Given the description of an element on the screen output the (x, y) to click on. 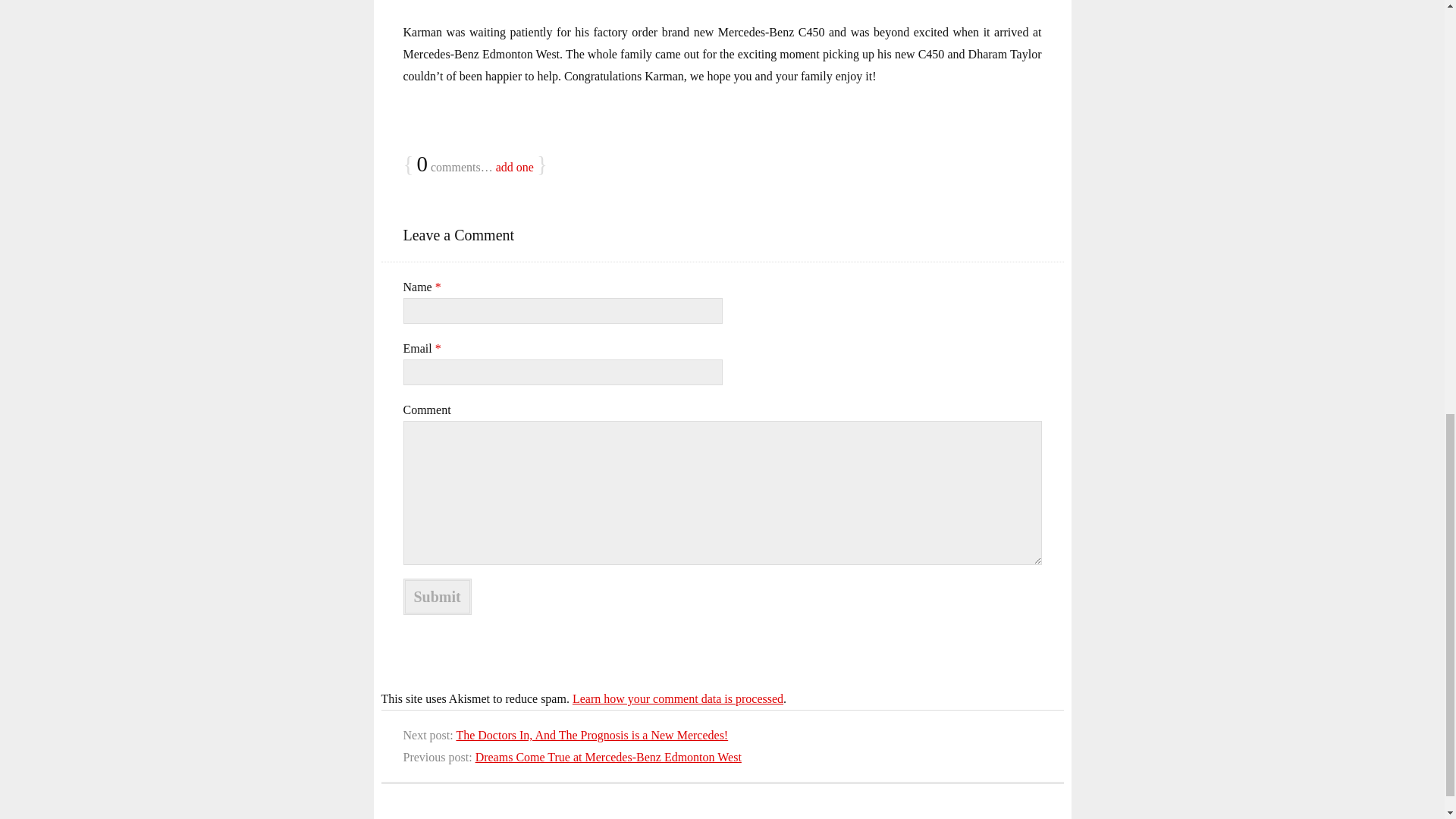
Dreams Come True at Mercedes-Benz Edmonton West (608, 757)
Learn how your comment data is processed (677, 698)
Please wait until Google reCAPTCHA is loaded. (437, 596)
The Doctors In, And The Prognosis is a New Mercedes! (591, 735)
Submit (437, 596)
Submit (437, 596)
add one (515, 166)
